Given the description of an element on the screen output the (x, y) to click on. 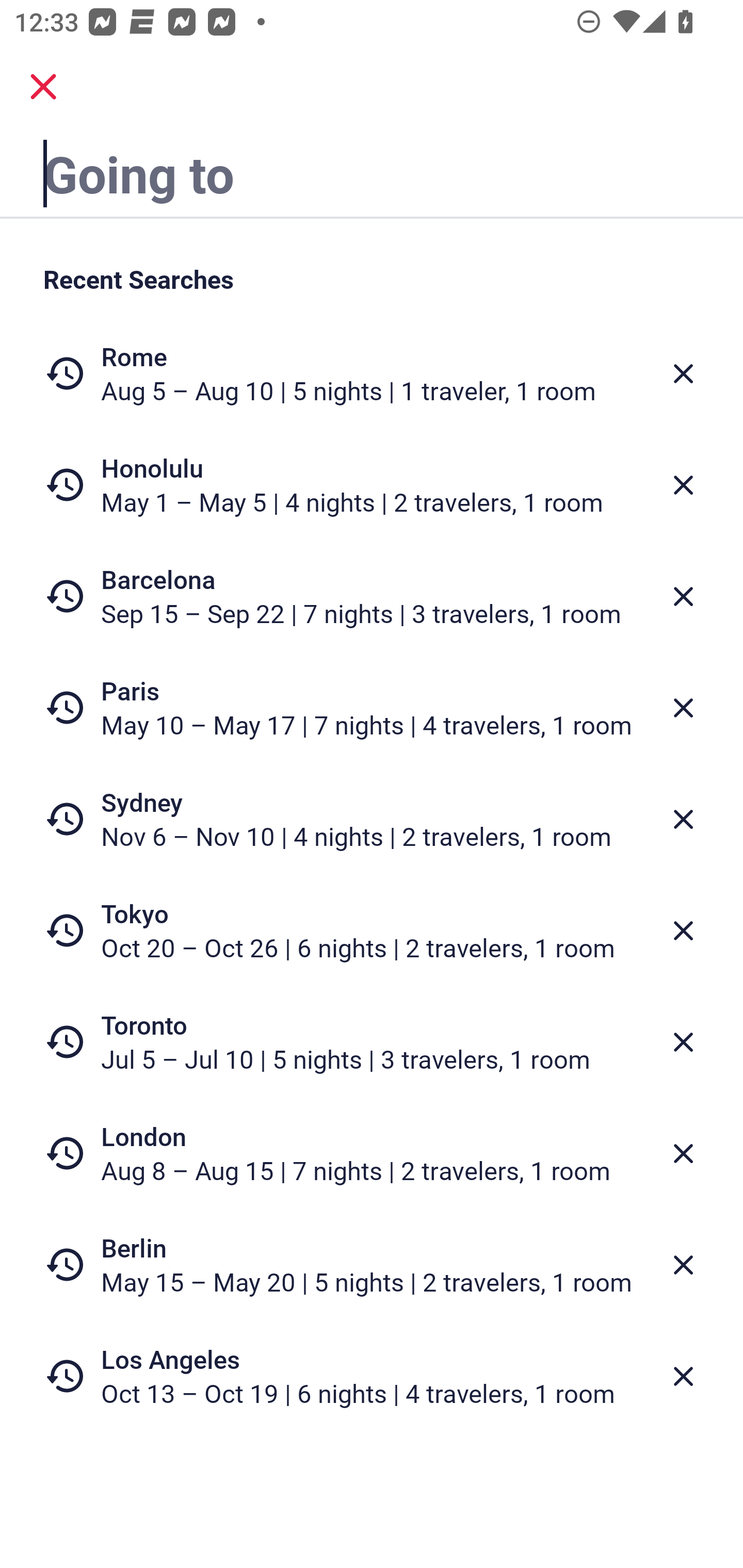
close. (43, 86)
Delete from recent searches (683, 373)
Delete from recent searches (683, 485)
Delete from recent searches (683, 596)
Delete from recent searches (683, 707)
Delete from recent searches (683, 819)
Delete from recent searches (683, 930)
Delete from recent searches (683, 1041)
Delete from recent searches (683, 1153)
Delete from recent searches (683, 1265)
Delete from recent searches (683, 1376)
